Given the description of an element on the screen output the (x, y) to click on. 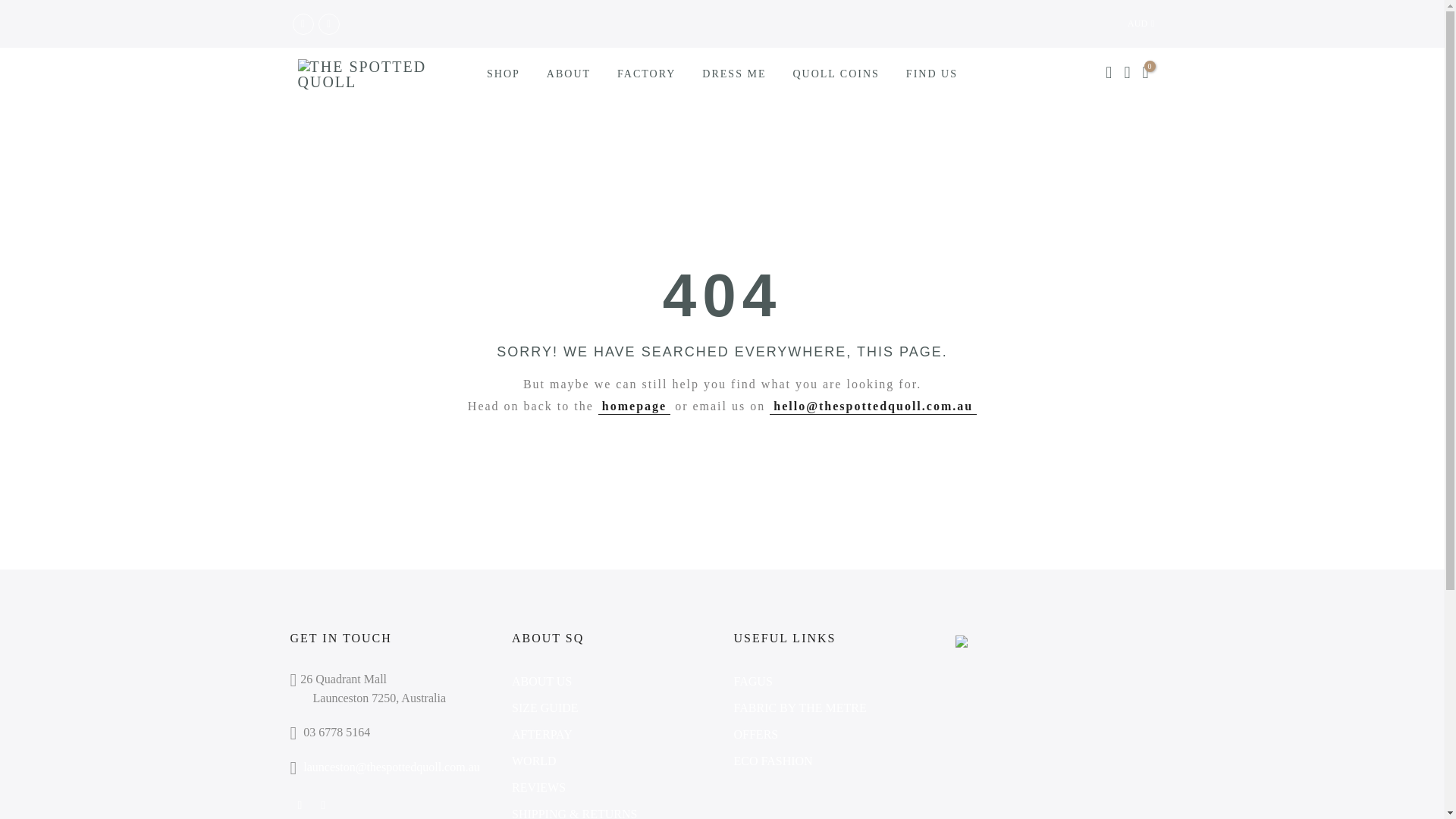
AFTERPAY (542, 734)
FIND US (931, 73)
SHOP (504, 73)
ABOUT US (542, 680)
WORLD (534, 760)
homepage (633, 406)
SIZE GUIDE (545, 707)
DRESS ME (733, 73)
ABOUT (568, 73)
REVIEWS (539, 787)
